Given the description of an element on the screen output the (x, y) to click on. 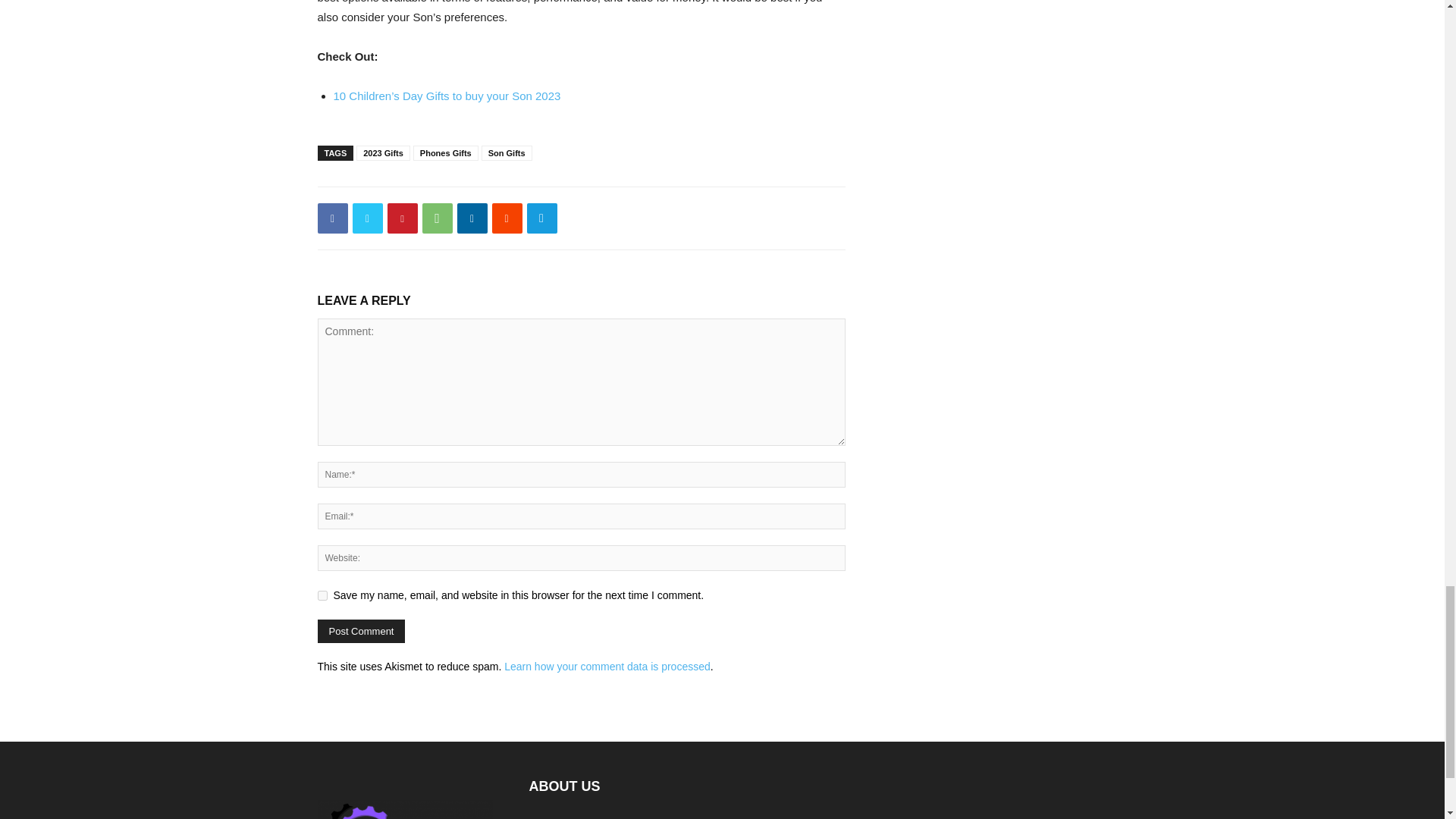
Post Comment (360, 630)
2023 Gifts (383, 152)
Twitter (366, 218)
WhatsApp (436, 218)
Facebook (332, 218)
Phones Gifts (446, 152)
yes (321, 595)
Son Gifts (506, 152)
Pinterest (401, 218)
